Given the description of an element on the screen output the (x, y) to click on. 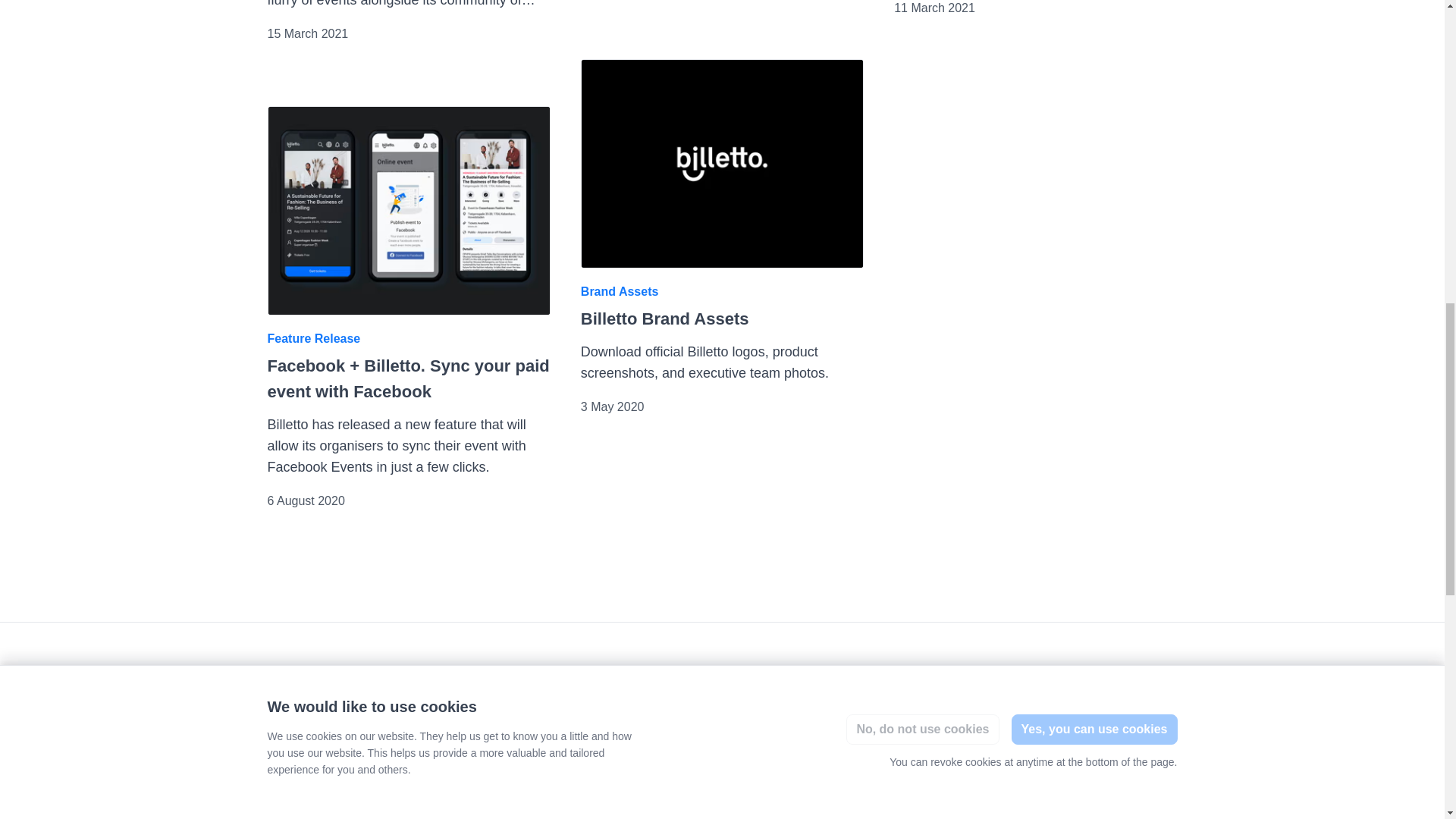
Brand Assets (619, 291)
Feature Release (312, 338)
Billetto Brand Assets (664, 318)
www.billetto.com (468, 807)
Billetto Brand Assets (721, 163)
